Given the description of an element on the screen output the (x, y) to click on. 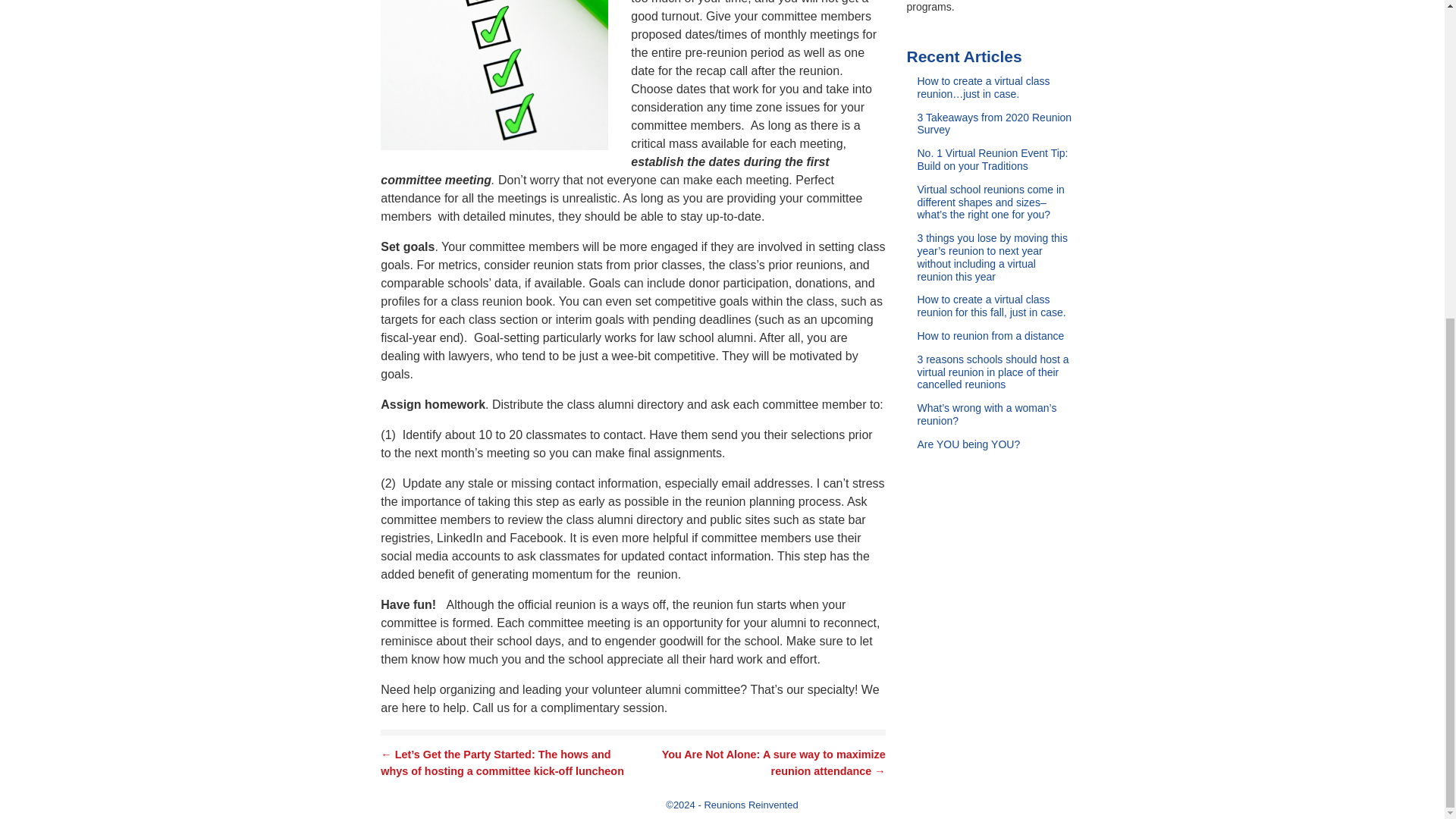
No. 1 Virtual Reunion Event Tip: Build on your Traditions (995, 165)
How to reunion from a distance (995, 341)
Are YOU being YOU? (995, 449)
3 Takeaways from 2020 Reunion Survey (995, 129)
Reunions Reinvented (750, 804)
Reunions Reinvented (750, 804)
